Given the description of an element on the screen output the (x, y) to click on. 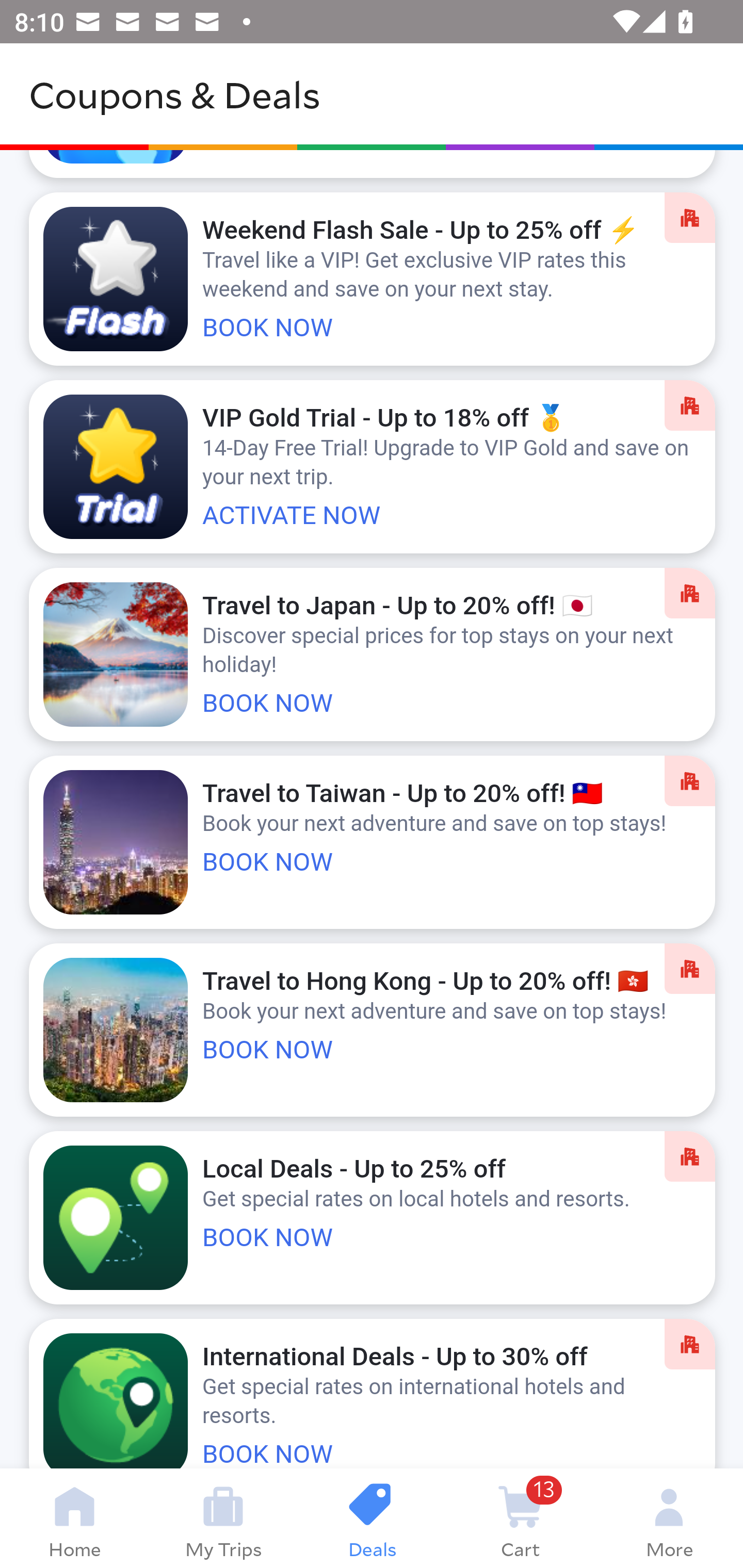
Home (74, 1518)
My Trips (222, 1518)
Deals (371, 1518)
13 Cart (519, 1518)
More (668, 1518)
